Given the description of an element on the screen output the (x, y) to click on. 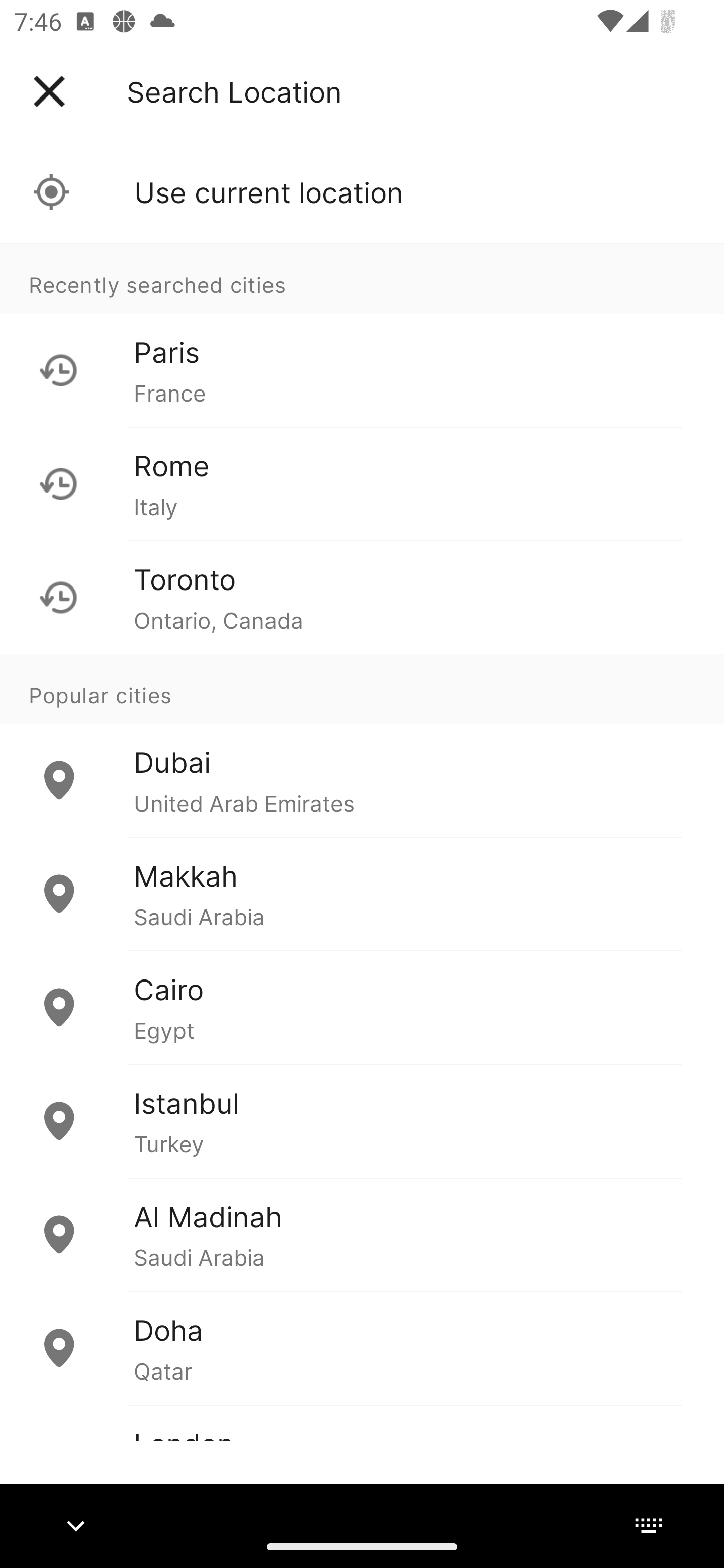
Search Location (234, 91)
Use current location (362, 192)
Recently searched cities Paris France (362, 334)
Recently searched cities (362, 278)
Rome Italy (362, 483)
Toronto Ontario, Canada (362, 596)
Popular cities Dubai United Arab Emirates (362, 745)
Popular cities (362, 688)
Makkah Saudi Arabia (362, 893)
Cairo Egypt (362, 1007)
Istanbul Turkey (362, 1120)
Al Madinah Saudi Arabia (362, 1233)
Doha Qatar (362, 1347)
